Given the description of an element on the screen output the (x, y) to click on. 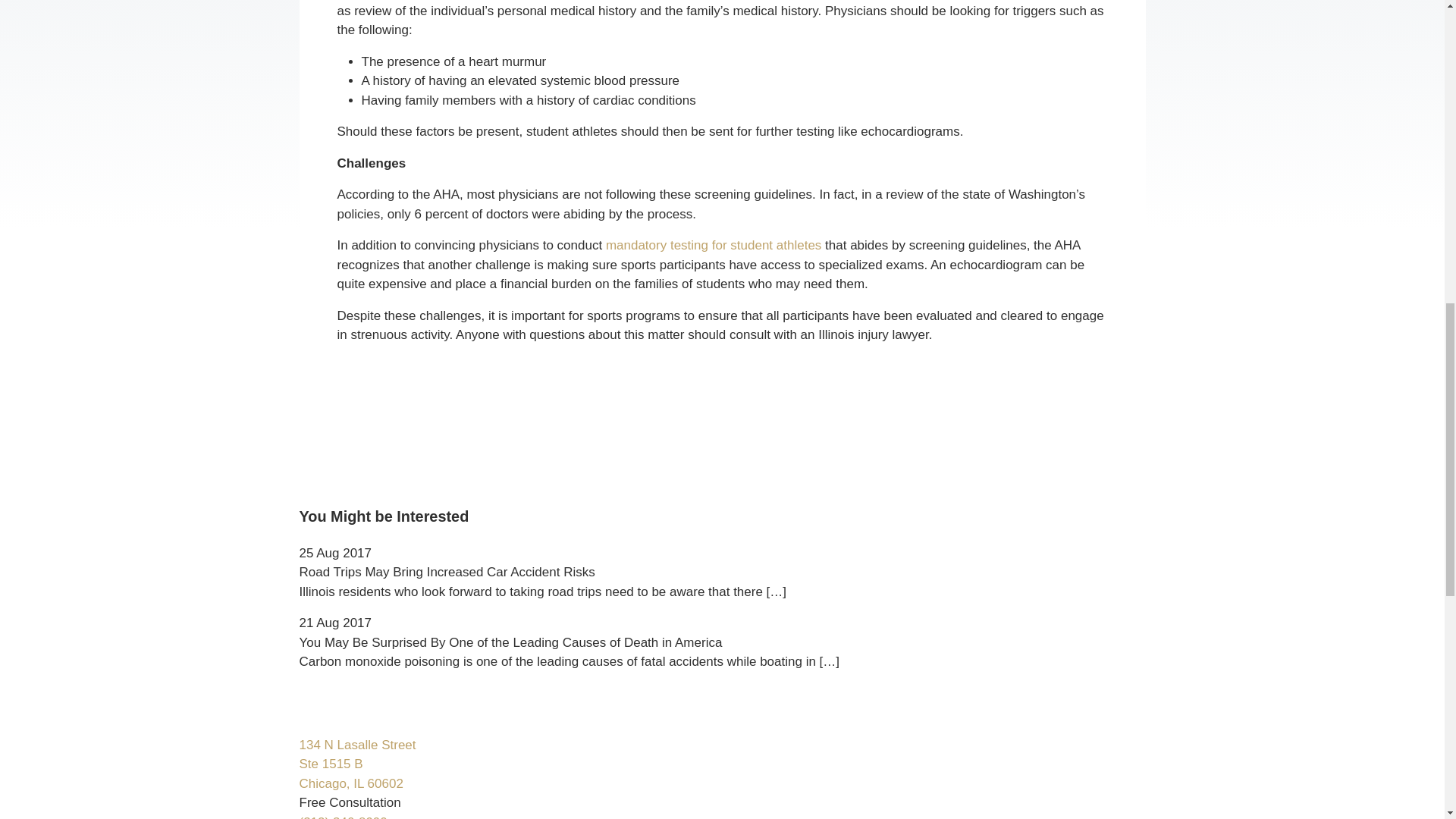
mandatory testing for student athletes (356, 764)
